Given the description of an element on the screen output the (x, y) to click on. 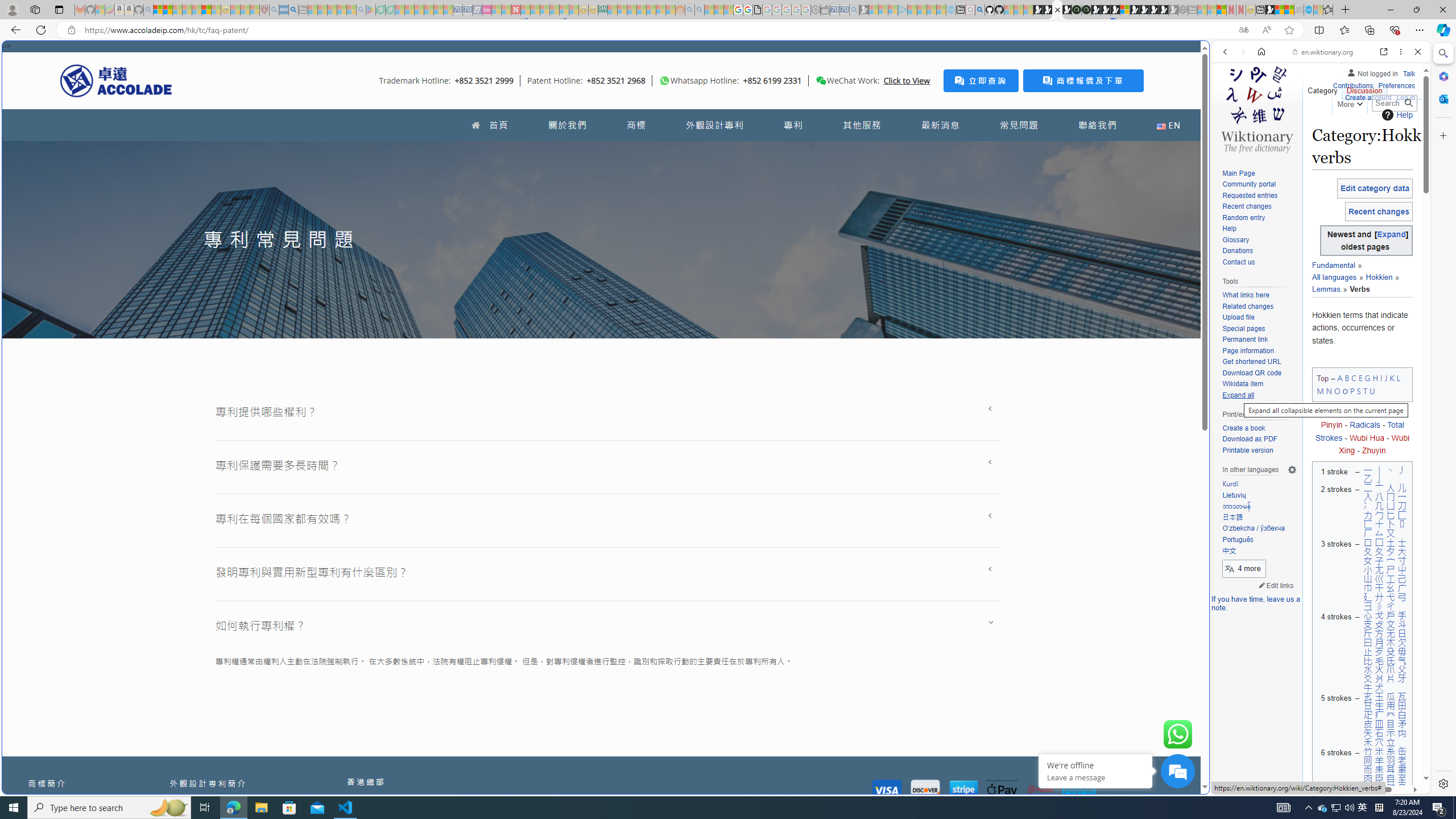
Download QR code (1259, 373)
utah sues federal government - Search (922, 389)
Category (1322, 87)
